Given the description of an element on the screen output the (x, y) to click on. 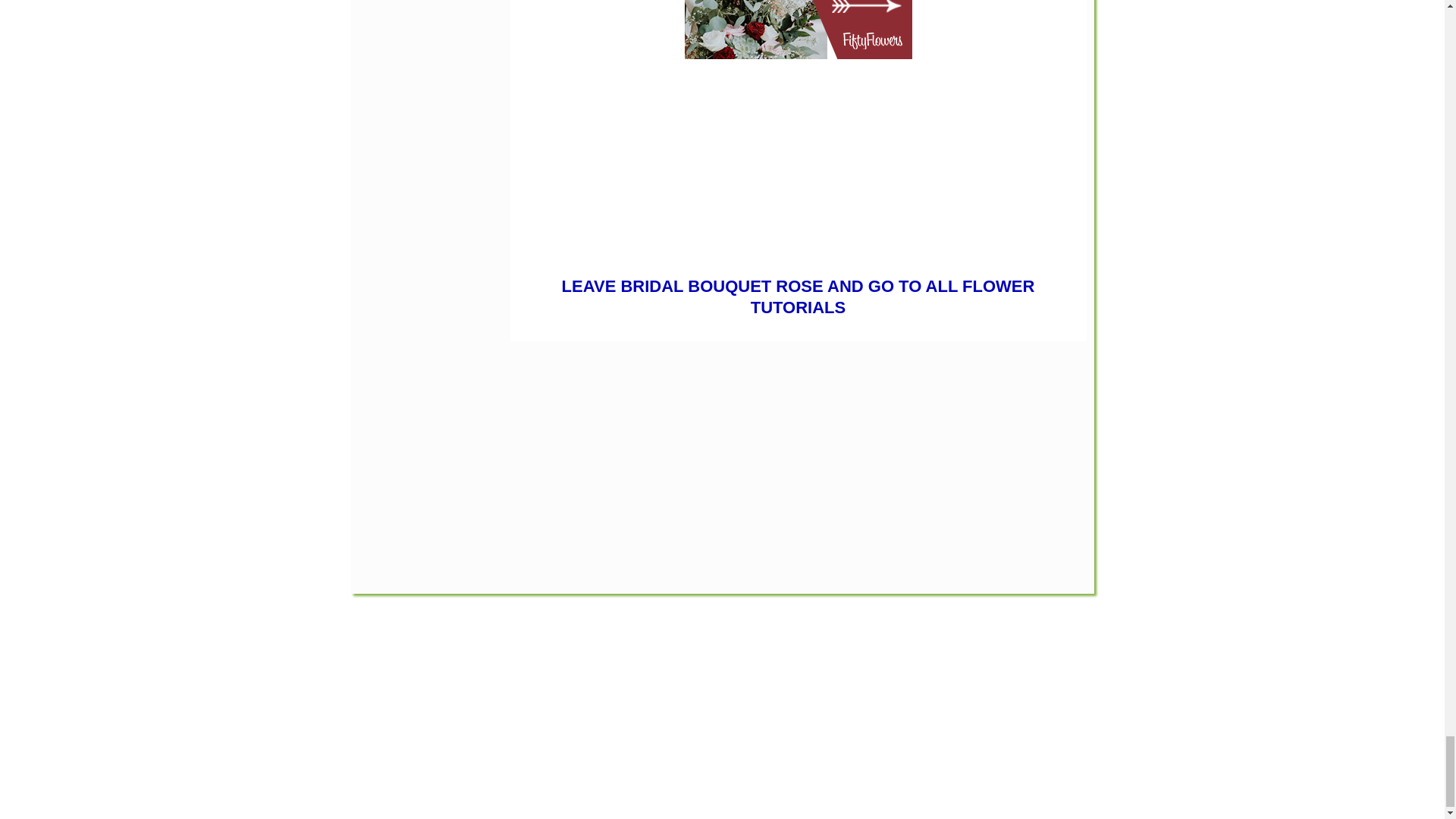
LEAVE BRIDAL BOUQUET ROSE AND GO TO ALL FLOWER TUTORIALS (798, 296)
